Given the description of an element on the screen output the (x, y) to click on. 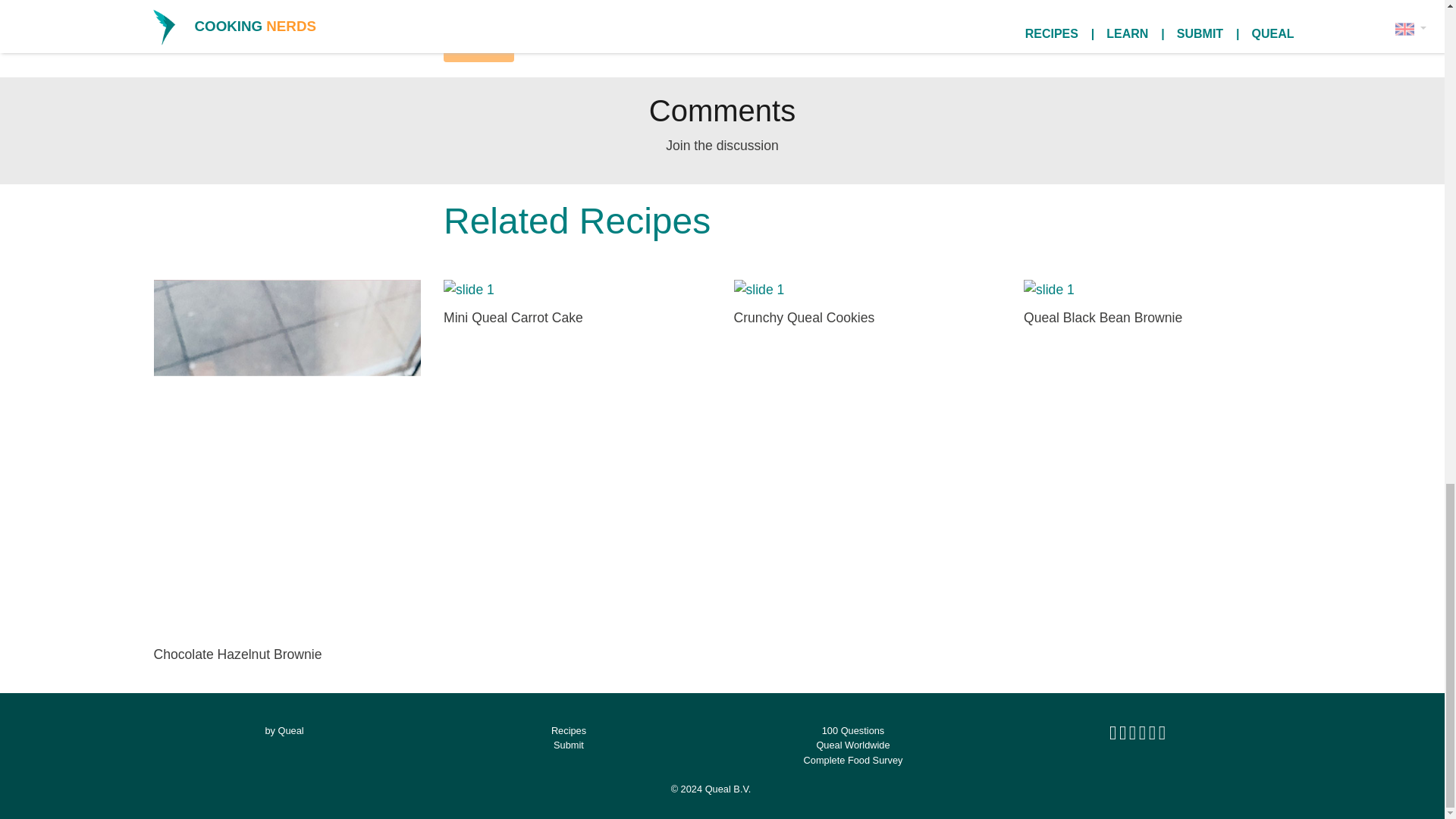
Recipes (568, 730)
100 Questions (853, 730)
Mini Queal Carrot Cake (577, 304)
Crunchy Queal Cookies (867, 304)
Queal Worldwide (852, 745)
Subscribe (478, 48)
Queal Black Bean Brownie (1157, 304)
by Queal (283, 730)
Submit (568, 745)
Complete Food Survey (852, 759)
